Given the description of an element on the screen output the (x, y) to click on. 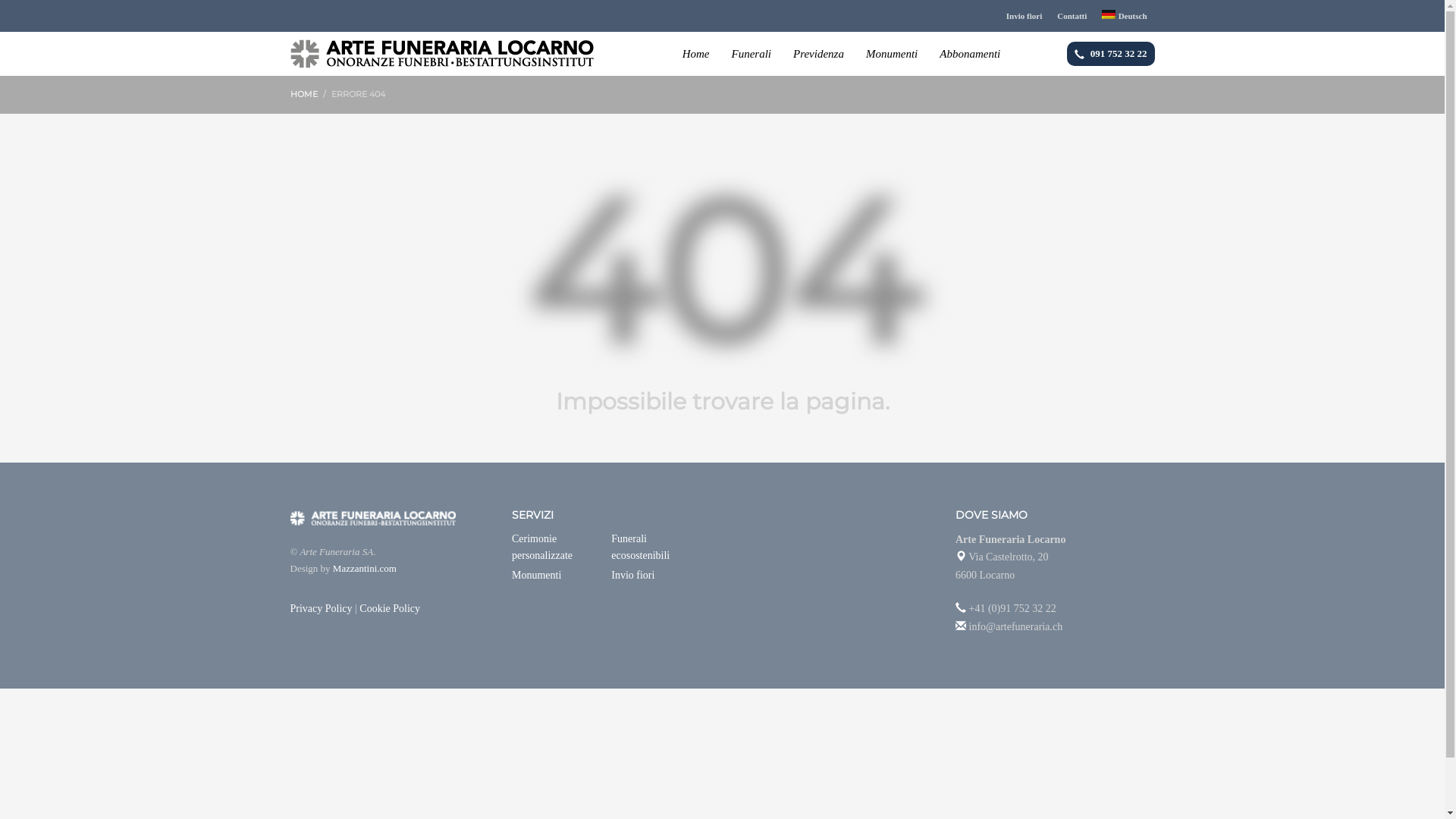
Cookie Policy Element type: text (389, 608)
Home Element type: text (695, 53)
Monumenti Element type: text (891, 53)
Abbonamenti Element type: text (969, 53)
Funerali Element type: text (750, 53)
Cerimonie personalizzate Element type: text (561, 547)
Funerali ecosostenibili Element type: text (660, 547)
Invio fiori Element type: text (1023, 15)
Previdenza Element type: text (818, 53)
Mazzantini.com Element type: text (364, 568)
HOME Element type: text (302, 93)
Invio fiori Element type: text (660, 575)
Contatti Element type: text (1071, 15)
Deutsch Element type: text (1123, 15)
091 752 32 22 Element type: text (1110, 53)
Monumenti Element type: text (561, 575)
Privacy Policy Element type: text (320, 608)
